Given the description of an element on the screen output the (x, y) to click on. 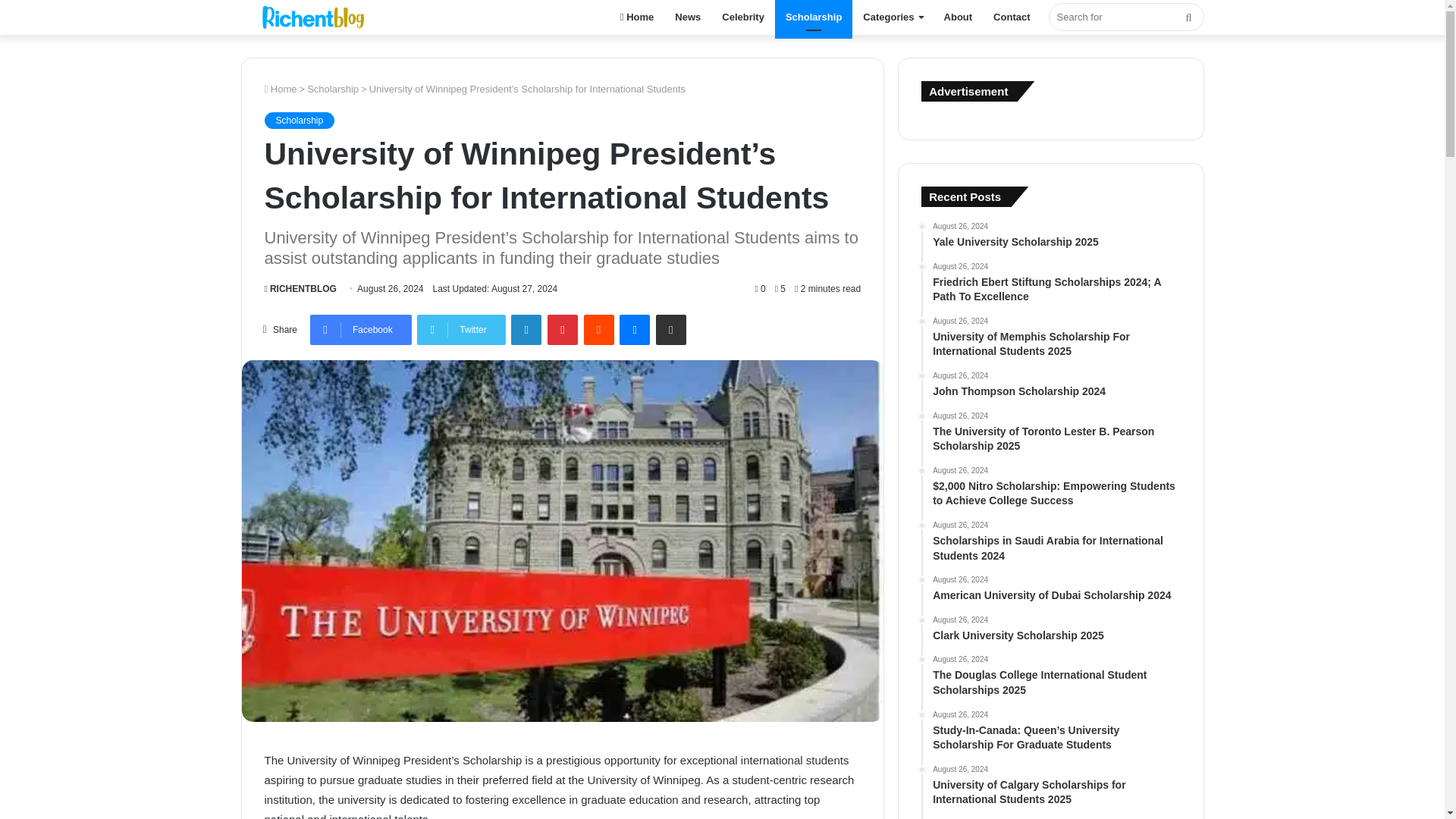
Scholarship (298, 120)
Twitter (460, 329)
Reddit (598, 329)
Share via Email (670, 329)
Richentblog (317, 16)
Pinterest (562, 329)
Scholarship (812, 17)
About (958, 17)
LinkedIn (526, 329)
Pinterest (562, 329)
